Given the description of an element on the screen output the (x, y) to click on. 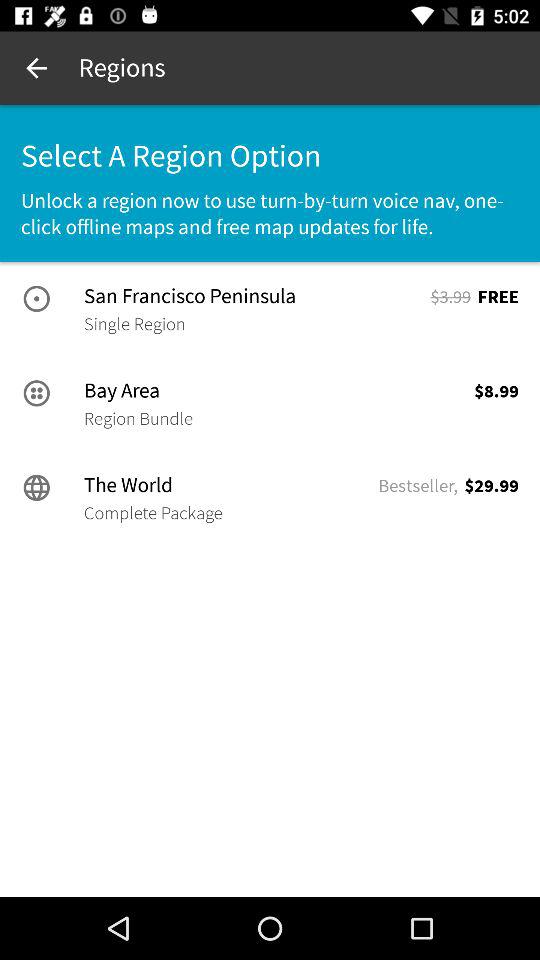
choose the icon next to the world item (417, 486)
